Given the description of an element on the screen output the (x, y) to click on. 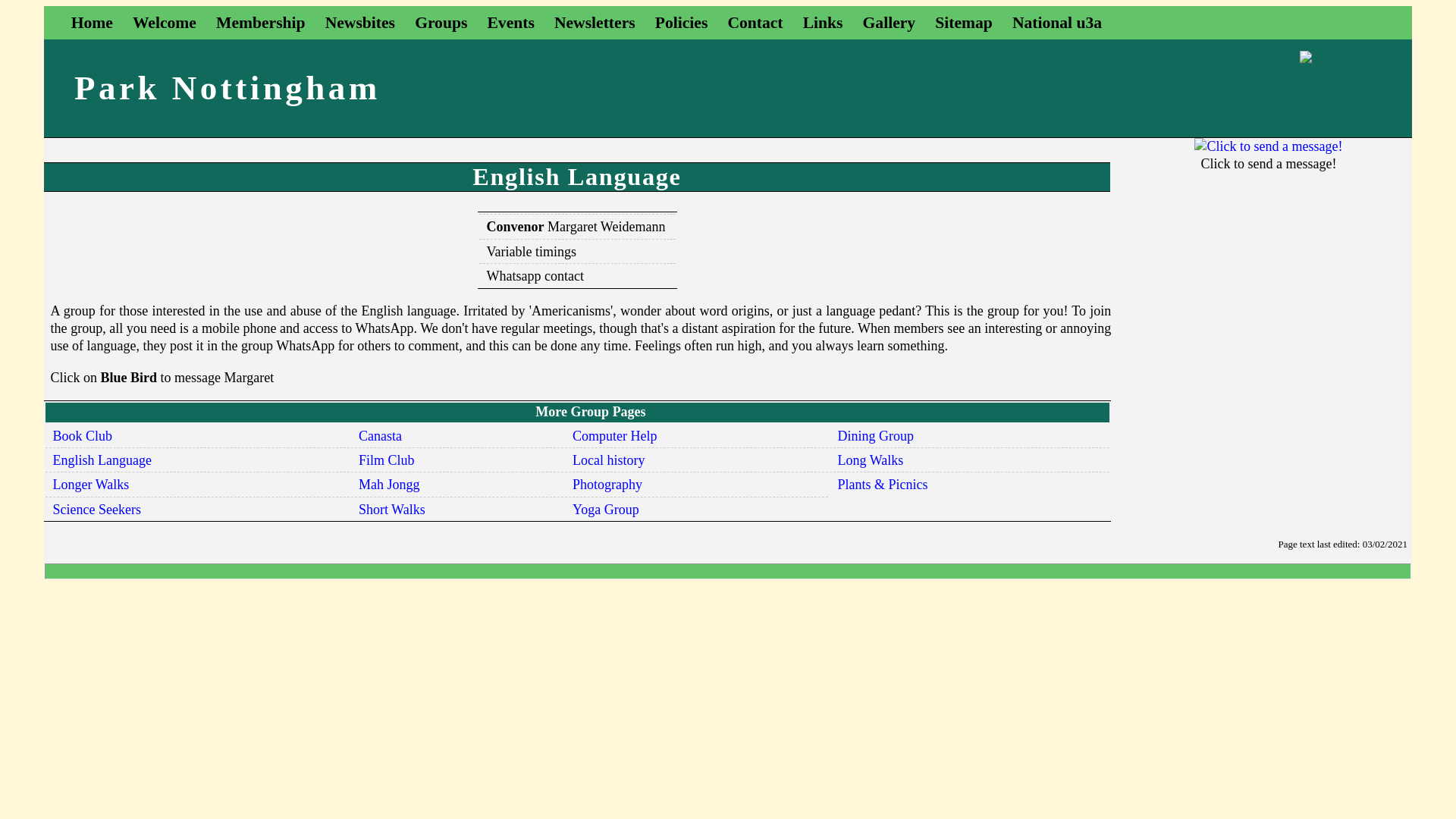
Film Club (386, 459)
Link to the Third Age Trust site (1056, 22)
National u3a (1056, 22)
Book Club (82, 435)
Yoga Group (605, 509)
Science Seekers (96, 509)
Policies (681, 22)
Home (92, 22)
Events (510, 22)
Links (823, 22)
